Given the description of an element on the screen output the (x, y) to click on. 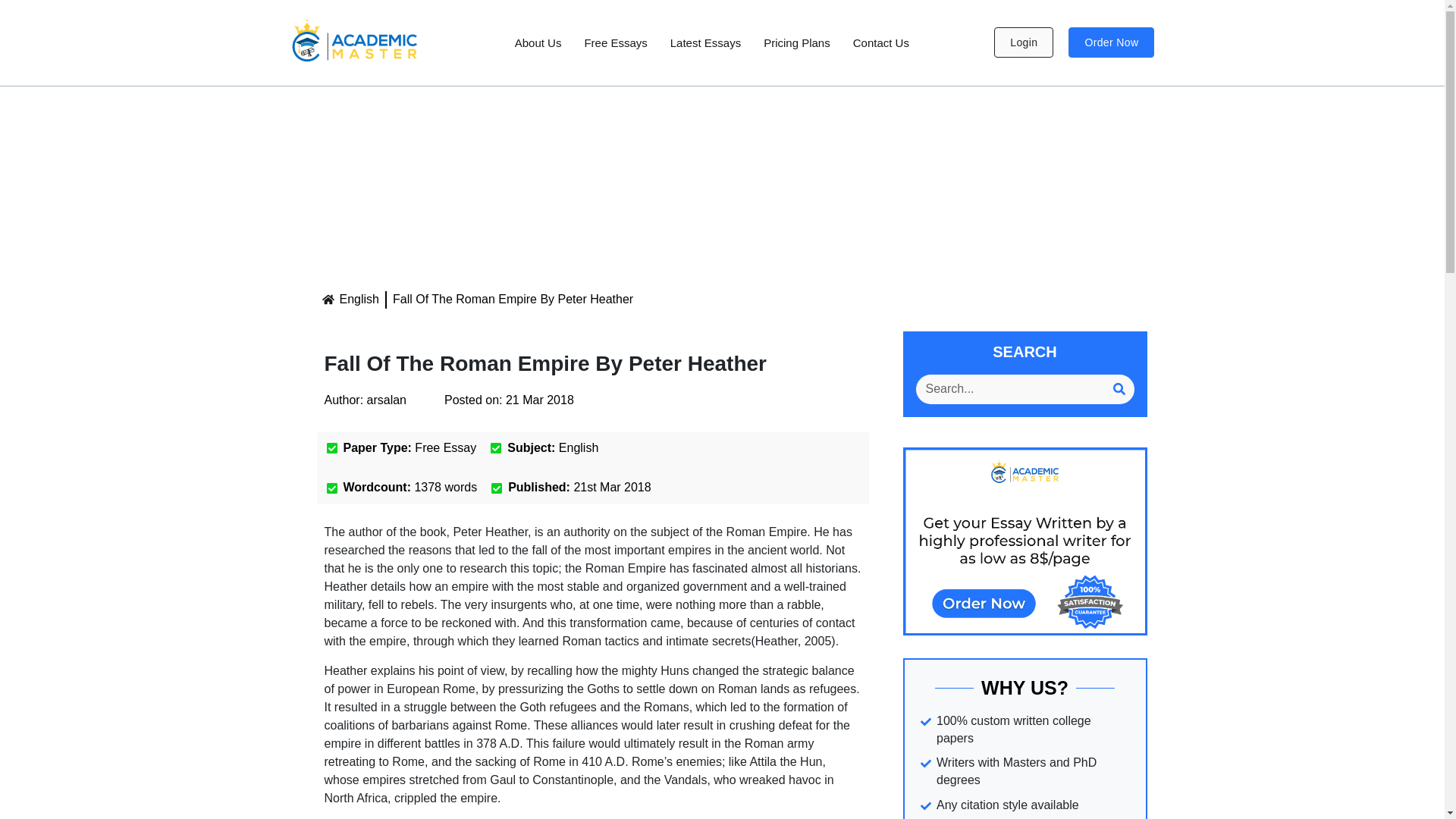
Free Essays (615, 42)
About Us (538, 42)
Latest Essays (705, 42)
Order Now (1111, 42)
Login (1023, 42)
Pricing Plans (796, 42)
Contact Us (880, 42)
